Given the description of an element on the screen output the (x, y) to click on. 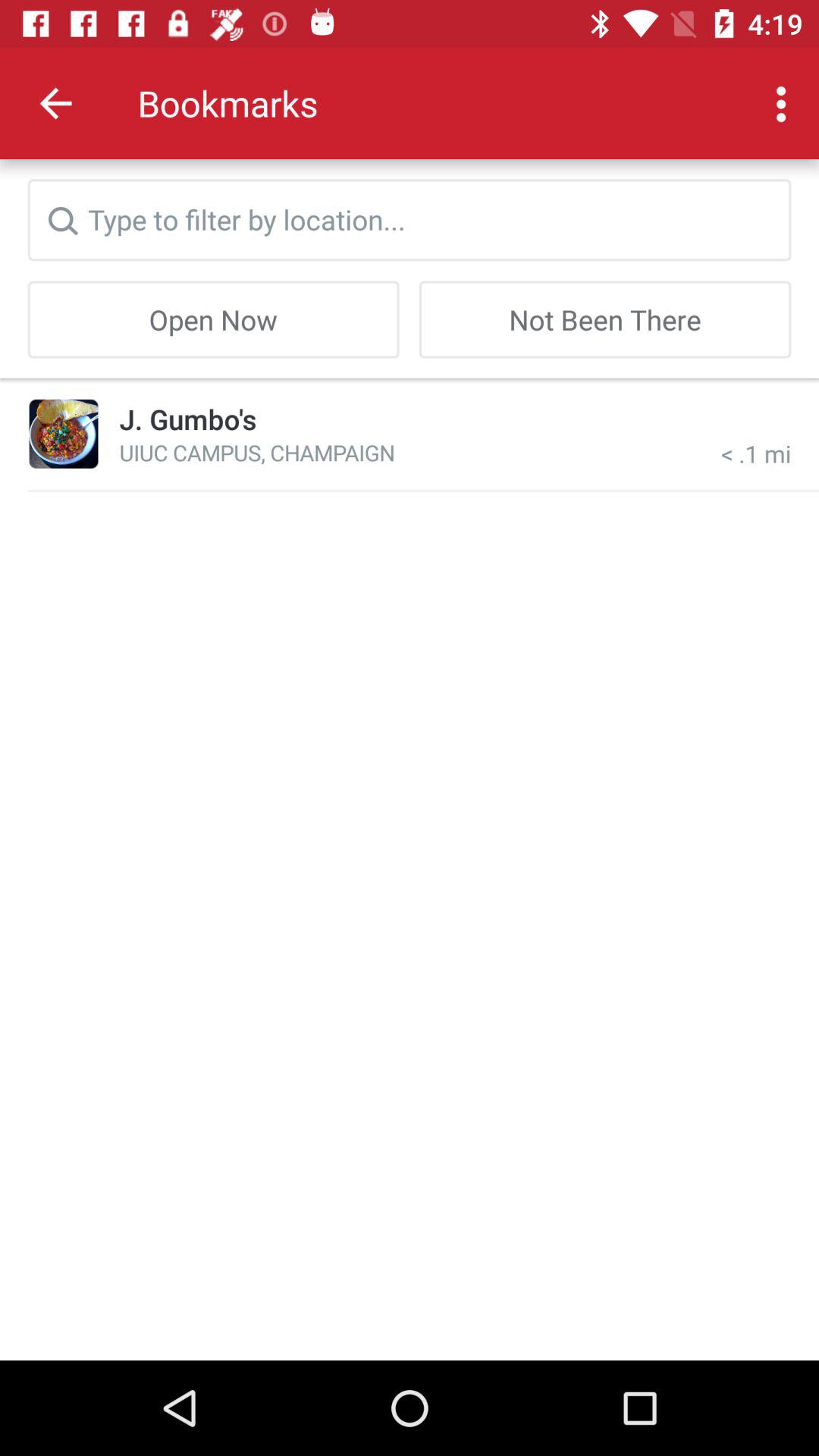
open the item to the left of not been there icon (213, 319)
